Given the description of an element on the screen output the (x, y) to click on. 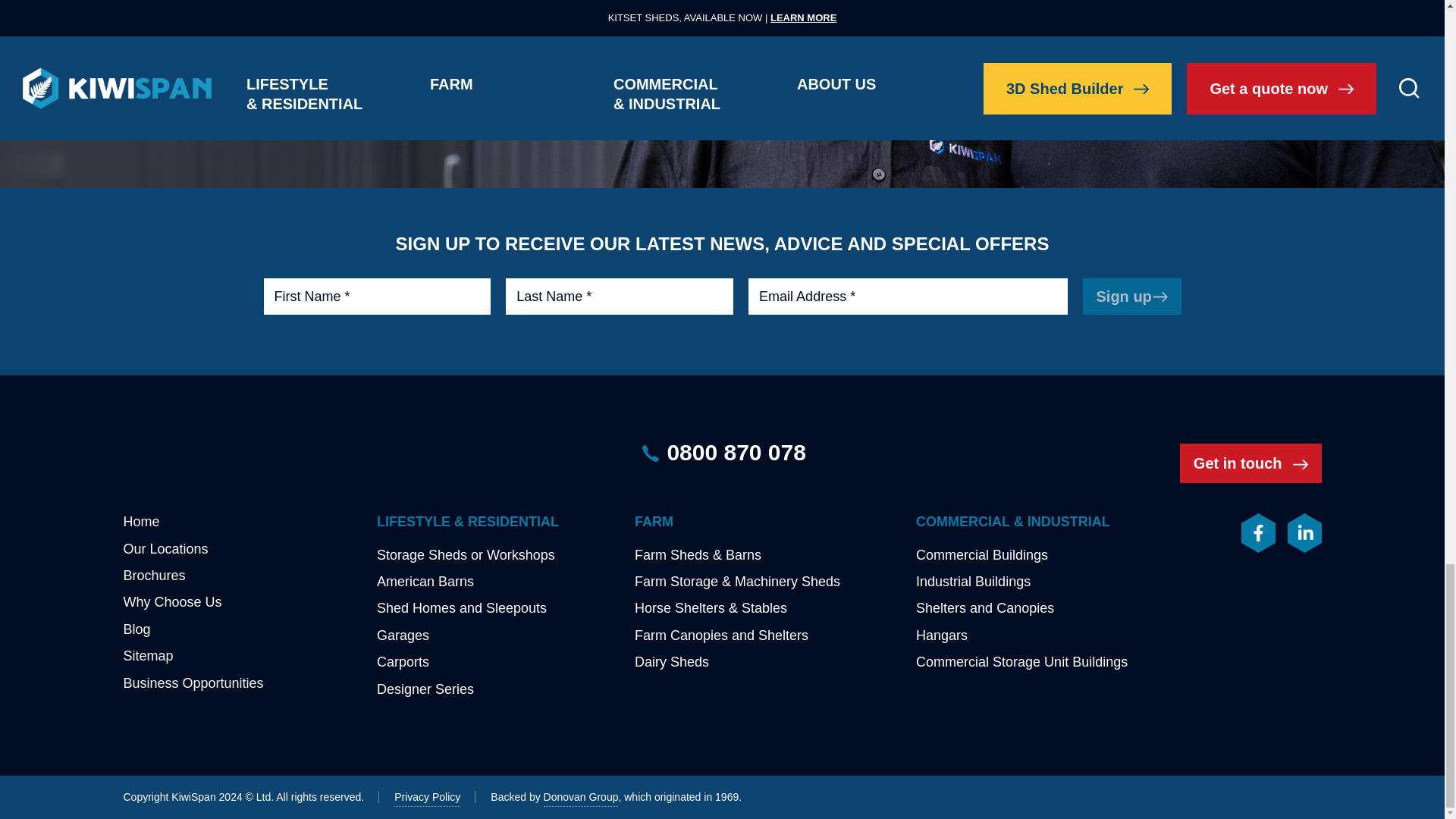
Sign up (1131, 296)
